Given the description of an element on the screen output the (x, y) to click on. 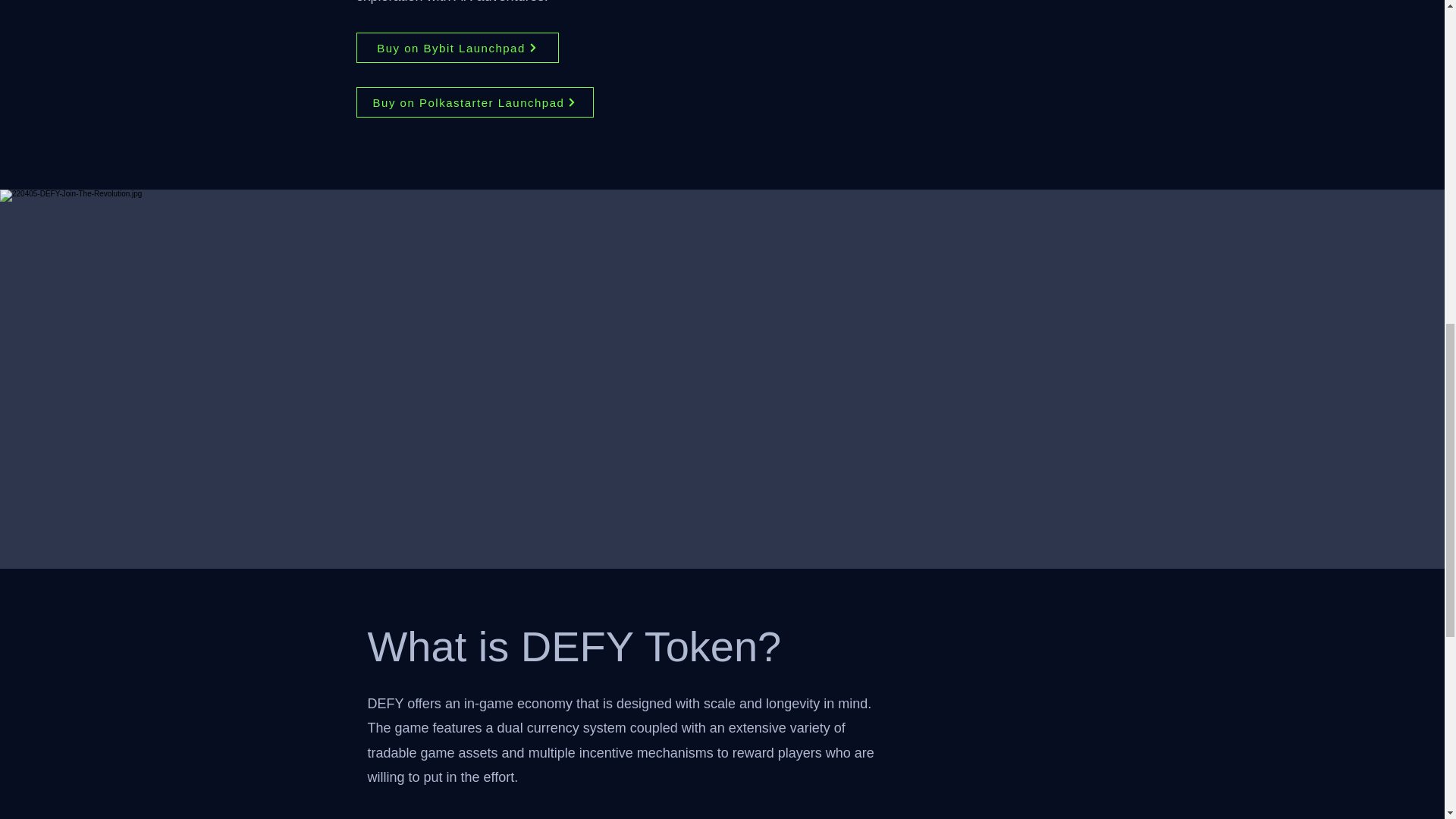
Buy on Polkastarter Launchpad (475, 101)
Buy on Bybit Launchpad (457, 47)
